Given the description of an element on the screen output the (x, y) to click on. 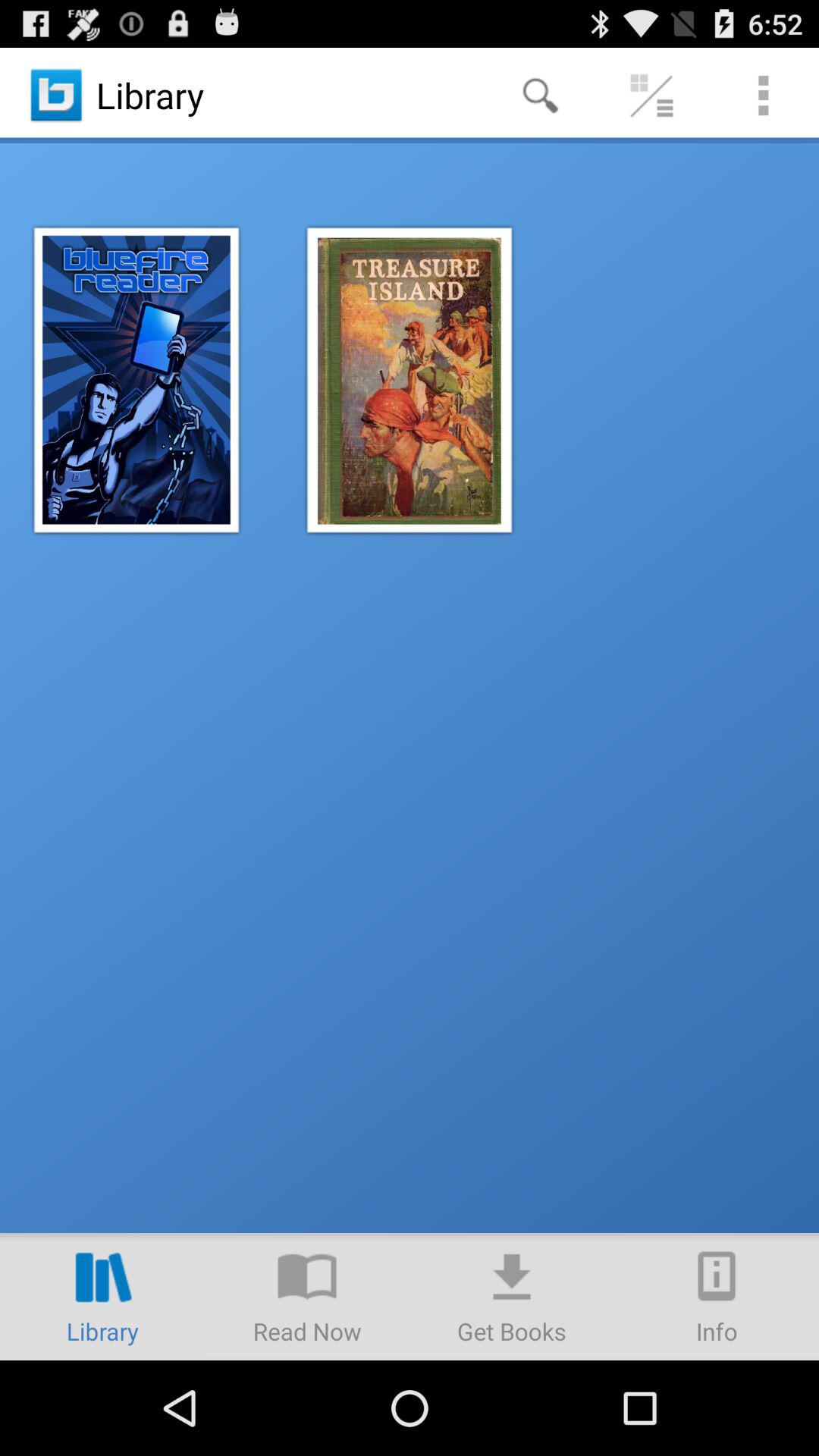
open library (102, 1296)
